Given the description of an element on the screen output the (x, y) to click on. 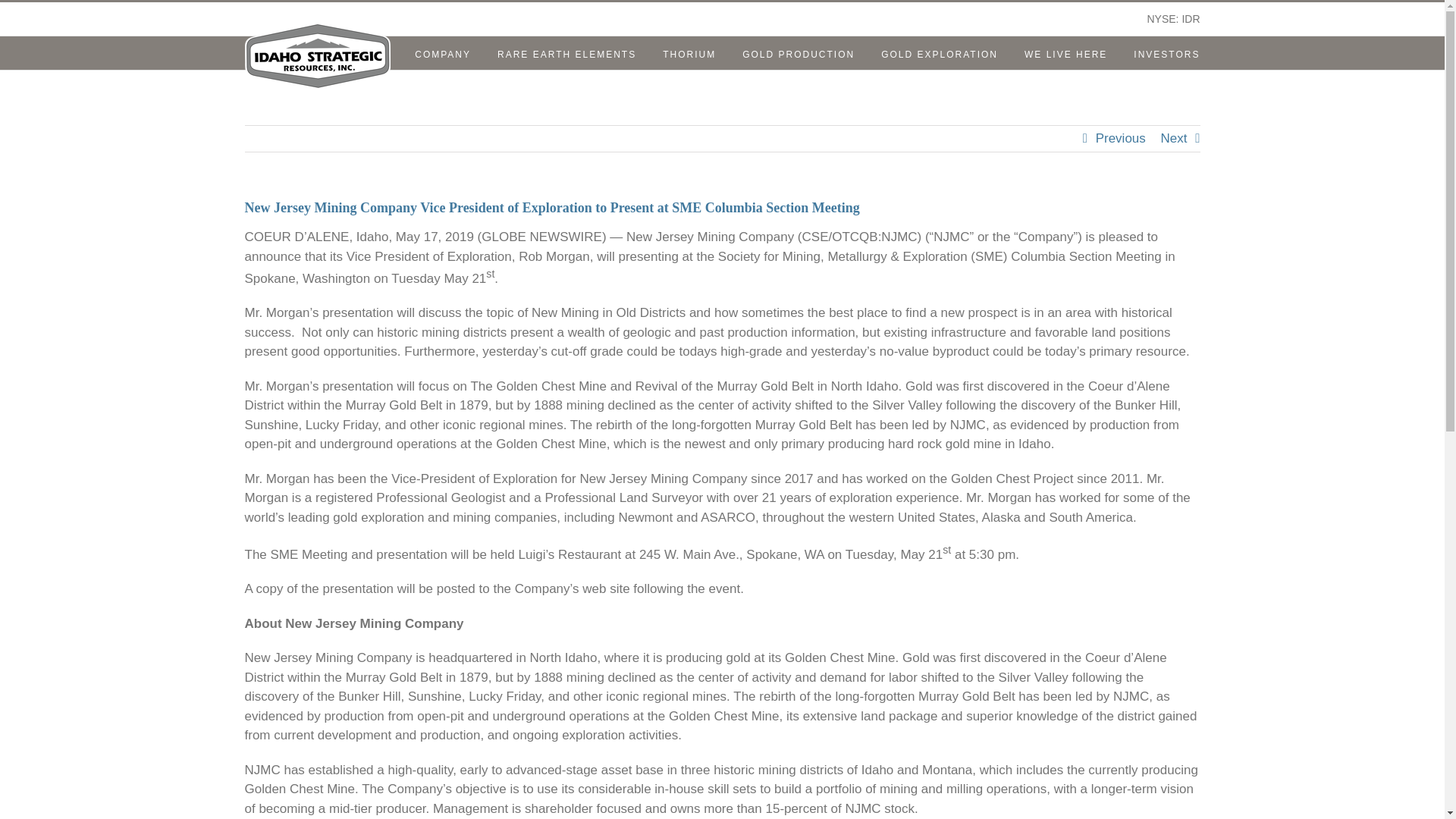
COMPANY (442, 53)
Next (1174, 138)
RARE EARTH ELEMENTS (566, 53)
Previous (1120, 138)
WE LIVE HERE (1065, 53)
GOLD PRODUCTION (798, 53)
INVESTORS (1166, 53)
GOLD EXPLORATION (938, 53)
THORIUM (689, 53)
